Given the description of an element on the screen output the (x, y) to click on. 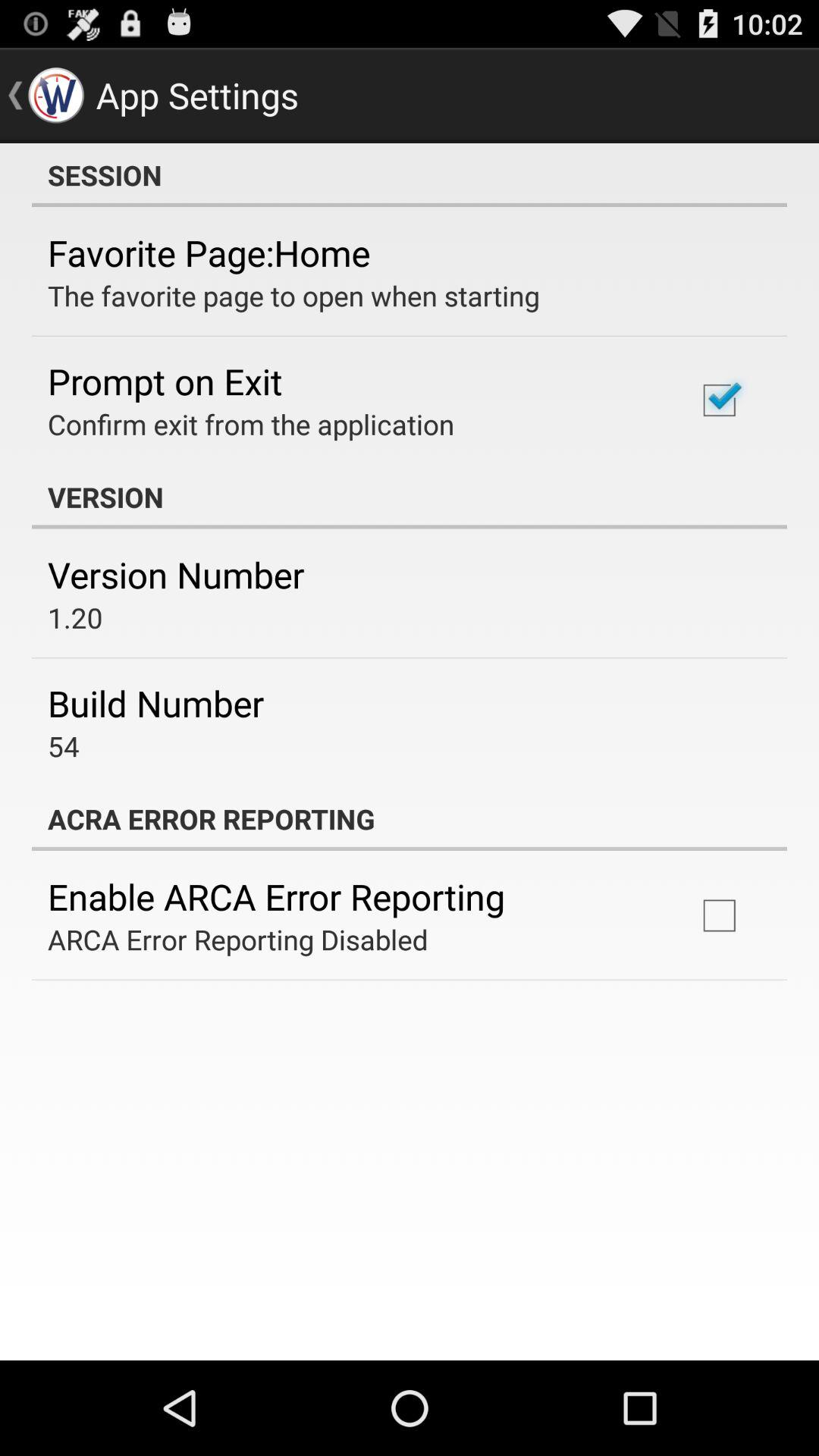
tap session icon (409, 175)
